Given the description of an element on the screen output the (x, y) to click on. 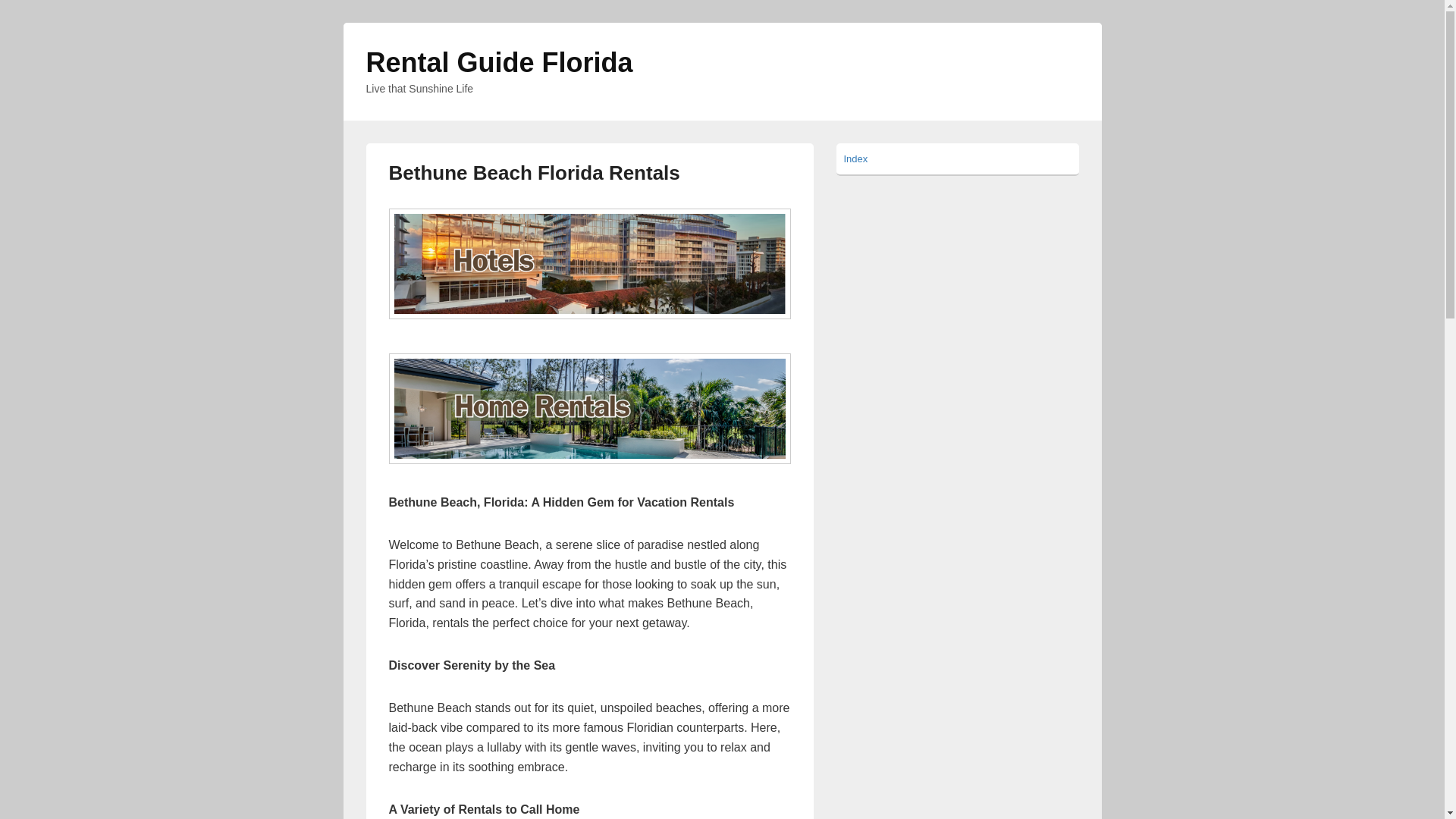
Florida Home Rentals (589, 408)
Index (855, 158)
Rental Guide Florida (498, 61)
Florida Hotels (589, 263)
